Given the description of an element on the screen output the (x, y) to click on. 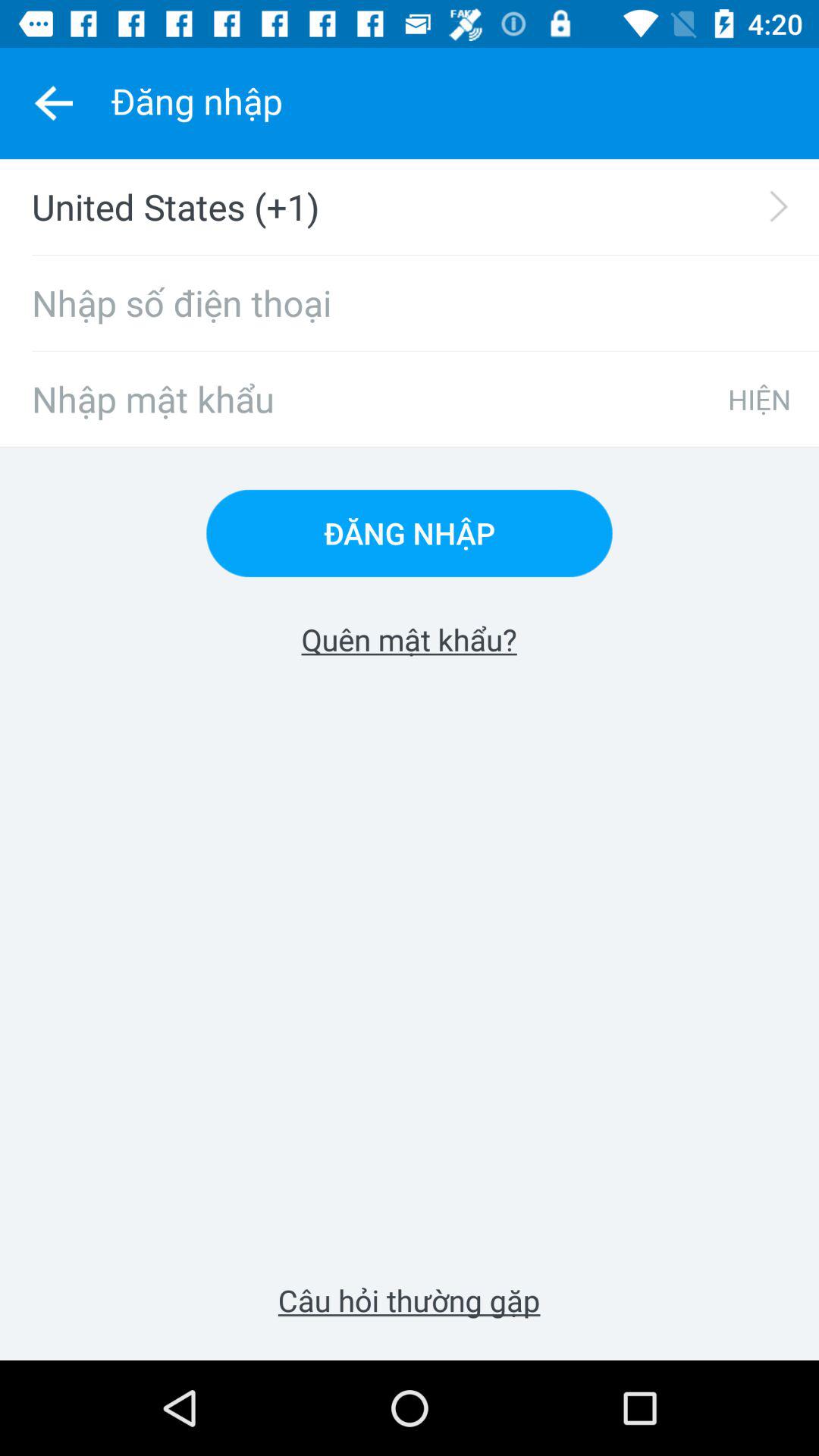
press item above the united states (+1) icon (53, 103)
